Given the description of an element on the screen output the (x, y) to click on. 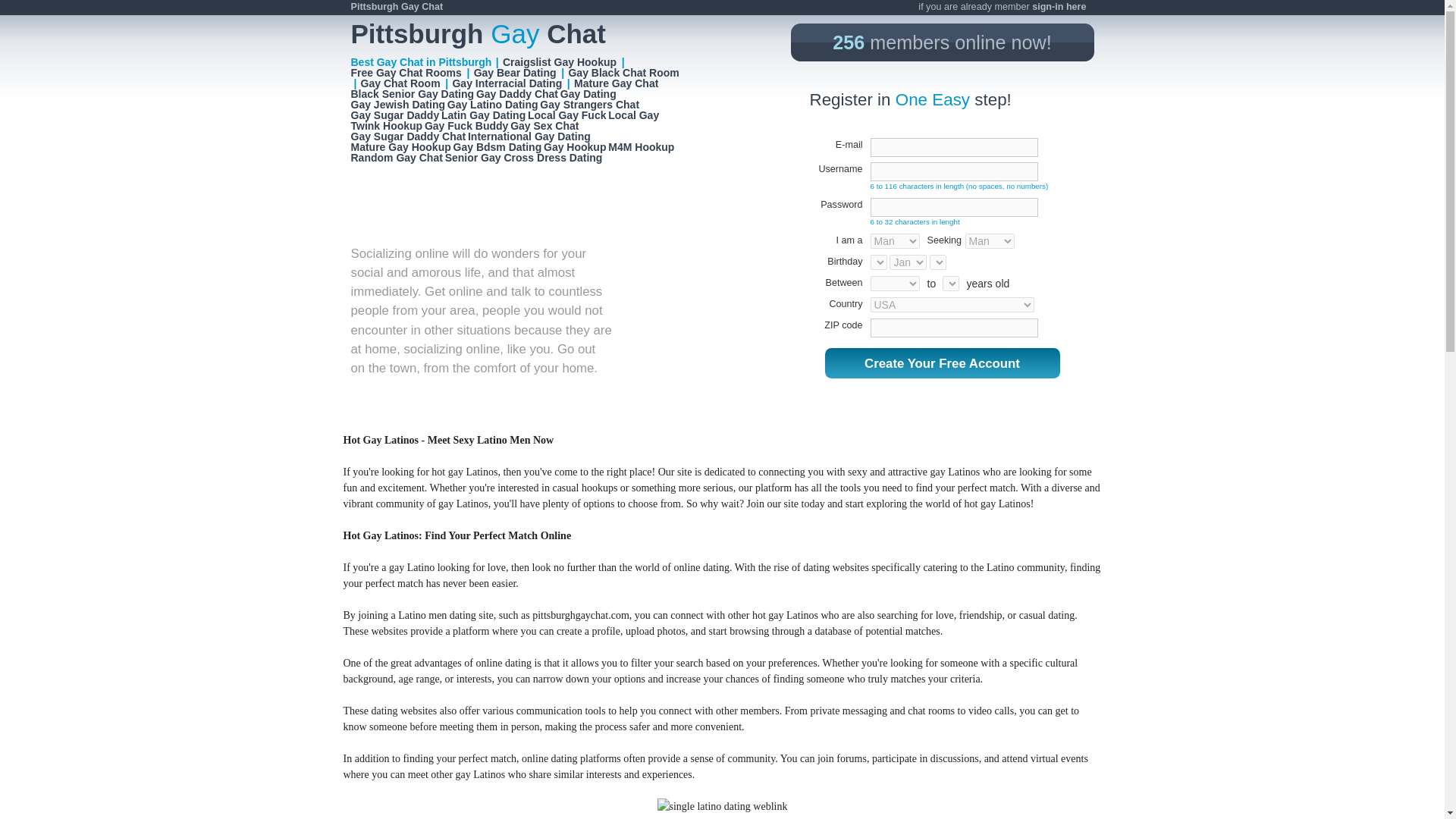
Gay Black Chat Room (623, 72)
Free Gay Chat Rooms (406, 72)
Mature Gay Chat (616, 82)
sign-in here (1059, 6)
Gay Sex Chat (545, 125)
Black Senior Gay Dating (412, 93)
Gay Sugar Daddy Chat (407, 136)
Local Gay Fuck (567, 114)
Mature Gay Hookup (400, 146)
Senior Gay Cross Dress Dating (524, 157)
M4M Hookup (641, 146)
Try Single Latino Dating Website - pittsburghgaychat.com (722, 806)
Local Gay (633, 114)
Gay Dating (588, 93)
International Gay Dating (529, 136)
